Given the description of an element on the screen output the (x, y) to click on. 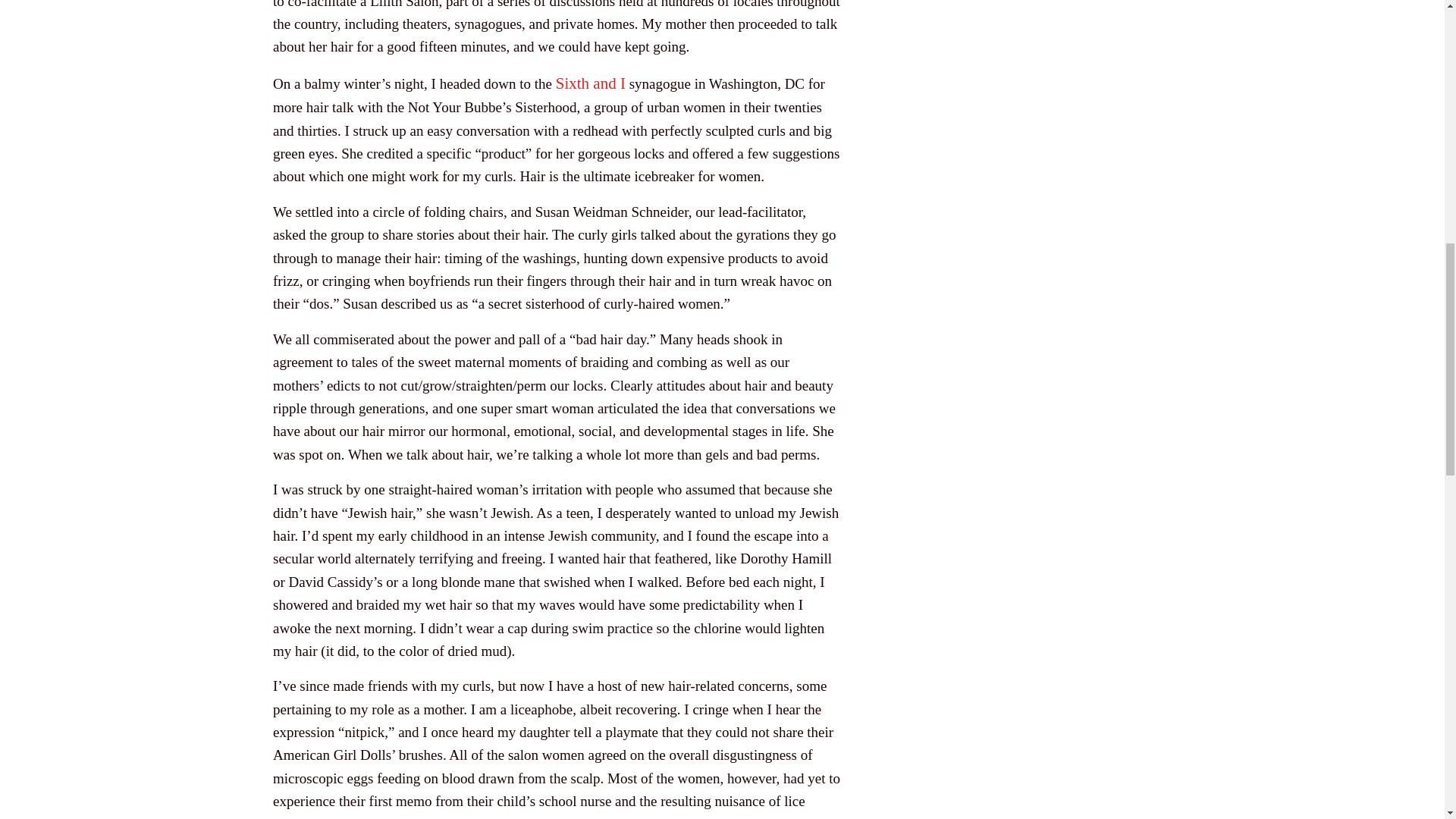
Sixth and I (591, 83)
